Given the description of an element on the screen output the (x, y) to click on. 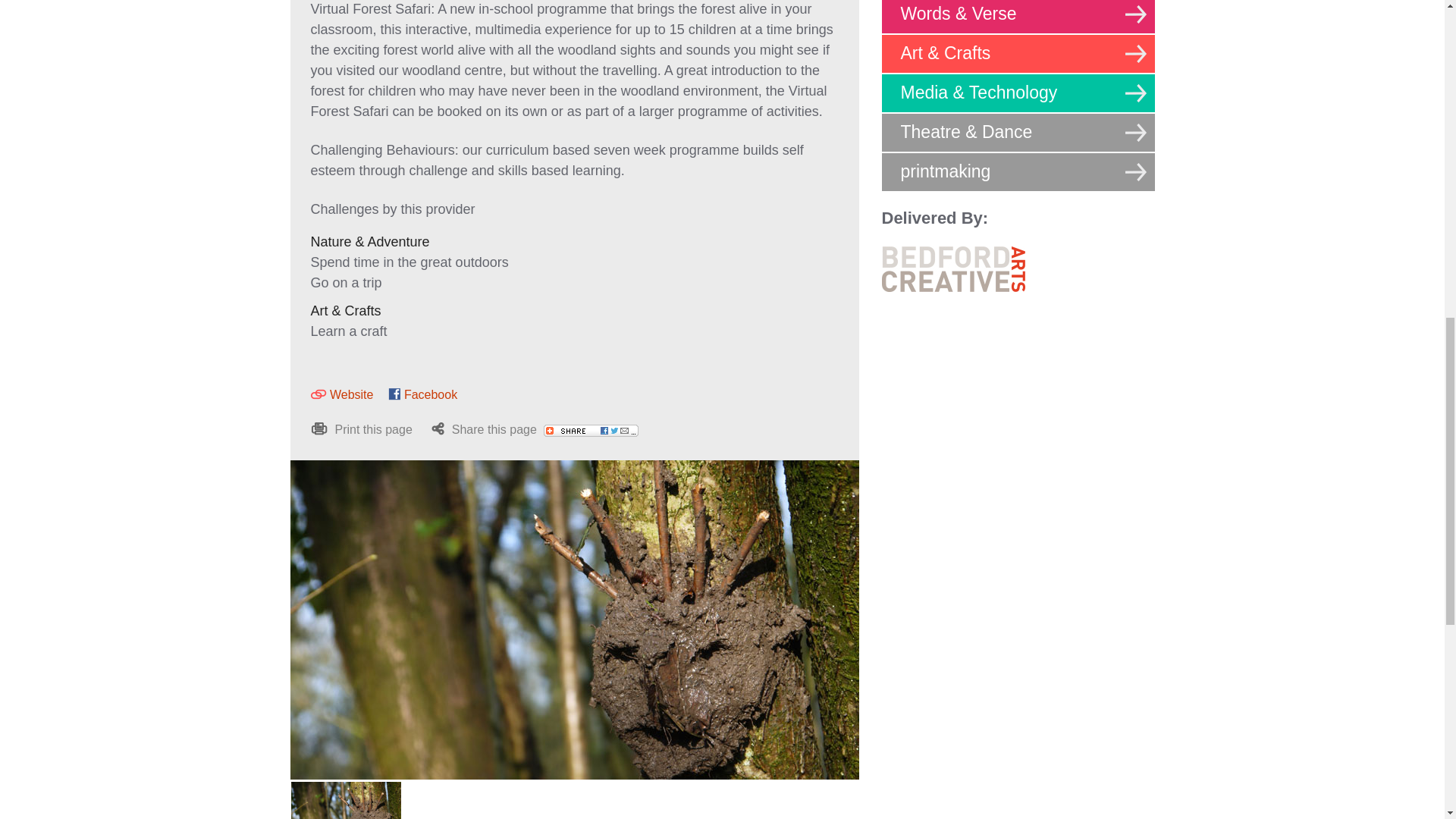
Print this page (361, 429)
Facebook (422, 394)
Learn a craft (349, 331)
Share this page   (534, 429)
Spend time in the great outdoors (409, 262)
Go on a trip (346, 282)
Website (342, 394)
